Given the description of an element on the screen output the (x, y) to click on. 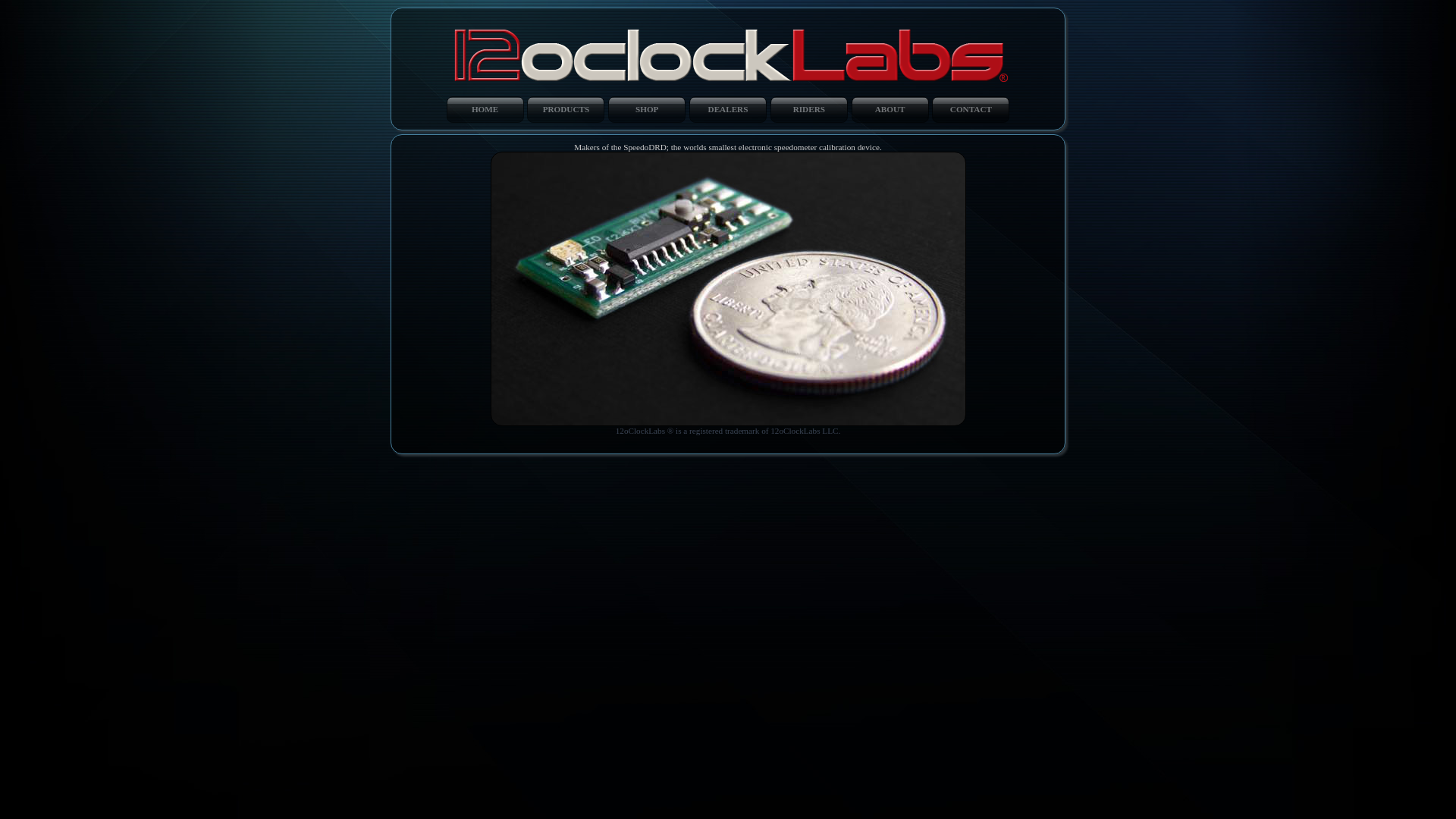
DEALERS Element type: text (727, 108)
RIDERS Element type: text (808, 108)
ABOUT Element type: text (889, 108)
CONTACT Element type: text (970, 108)
PRODUCTS Element type: text (565, 108)
12oClockLabs LLC Element type: hover (727, 49)
SHOP Element type: text (646, 108)
HOME Element type: text (484, 108)
